Given the description of an element on the screen output the (x, y) to click on. 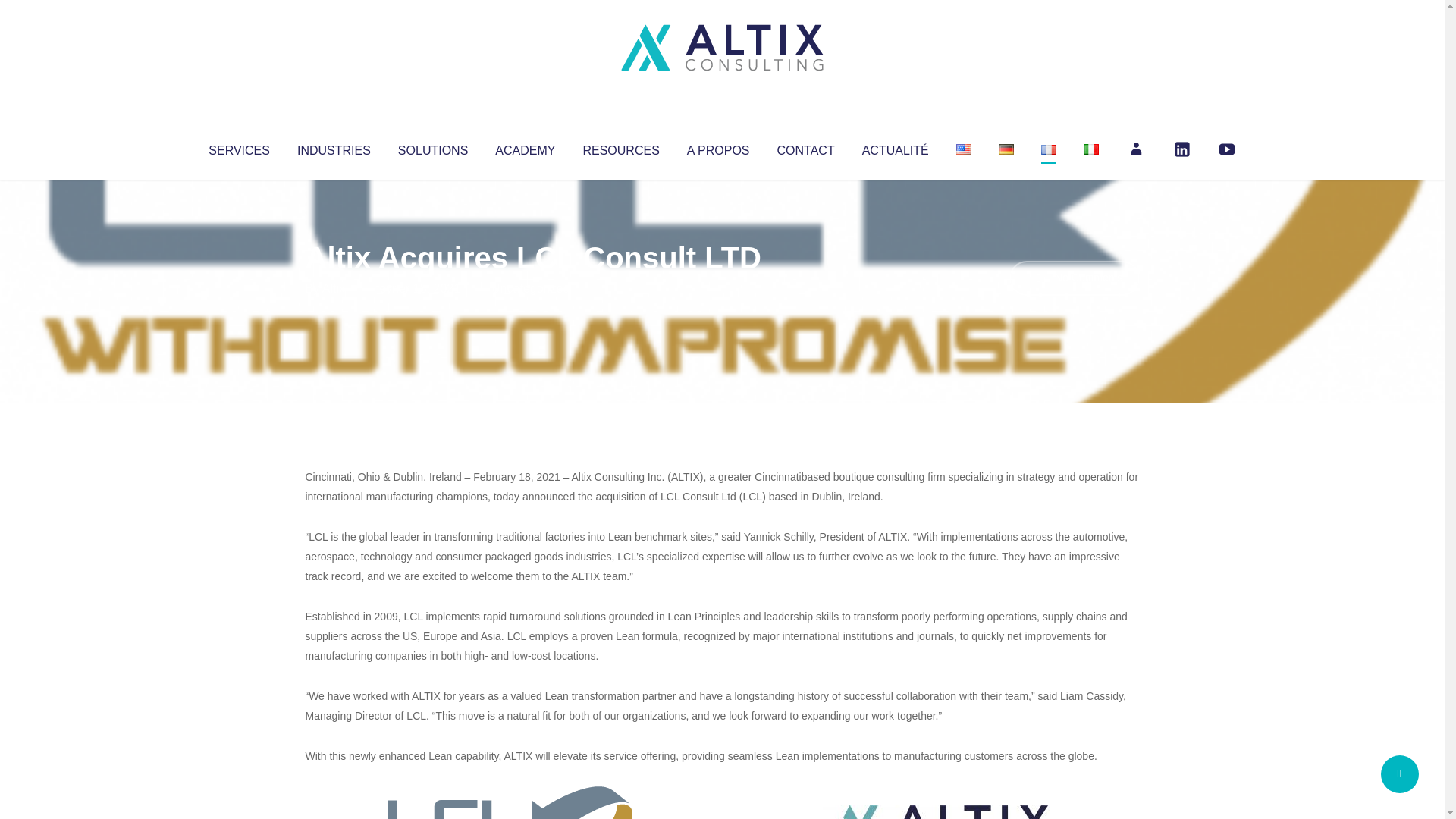
A PROPOS (718, 146)
Uncategorized (530, 287)
INDUSTRIES (334, 146)
SERVICES (238, 146)
Articles par Altix (333, 287)
RESOURCES (620, 146)
Altix (333, 287)
ACADEMY (524, 146)
SOLUTIONS (432, 146)
No Comments (1073, 278)
